Given the description of an element on the screen output the (x, y) to click on. 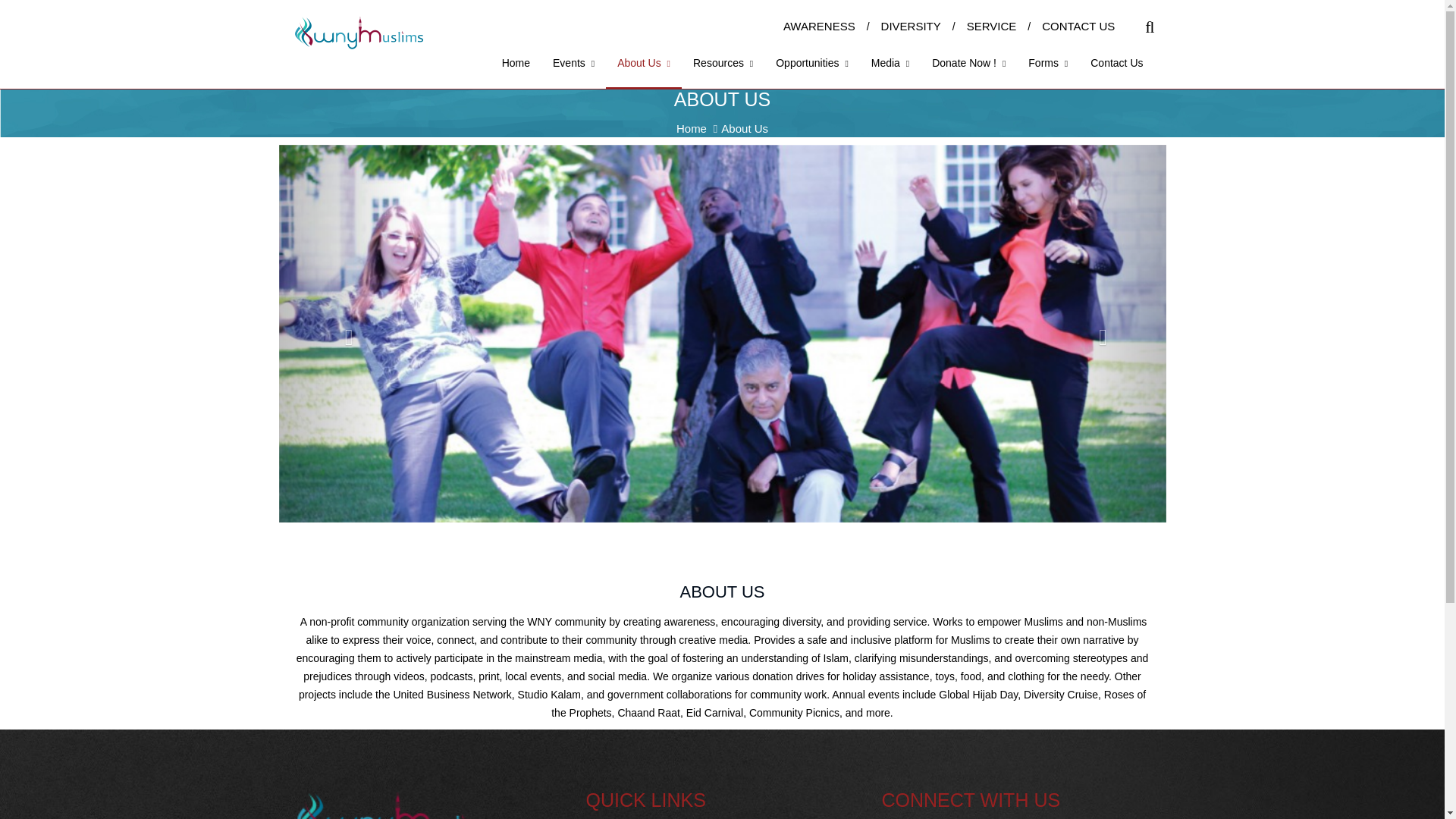
DIVERSITY (910, 25)
AWARENESS (819, 25)
About Us (643, 72)
Home (515, 71)
SERVICE (991, 25)
Events (573, 71)
CONTACT US (1078, 25)
Resources (722, 71)
